Given the description of an element on the screen output the (x, y) to click on. 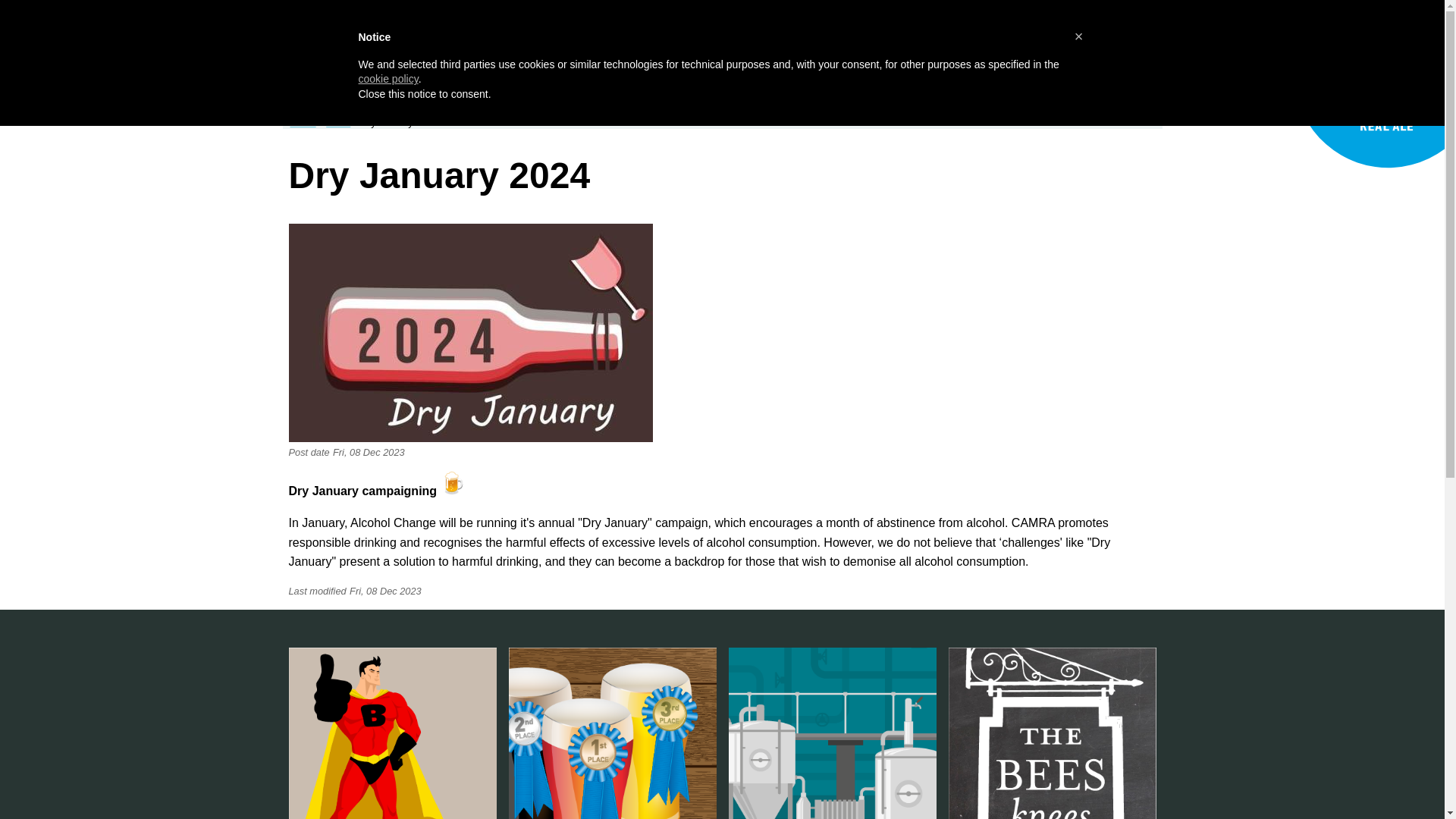
Awards in Aberdeen and North East Scotland (713, 66)
Home (465, 29)
Links to related organisations and CAMRA branches. (769, 66)
Home (1364, 165)
